Given the description of an element on the screen output the (x, y) to click on. 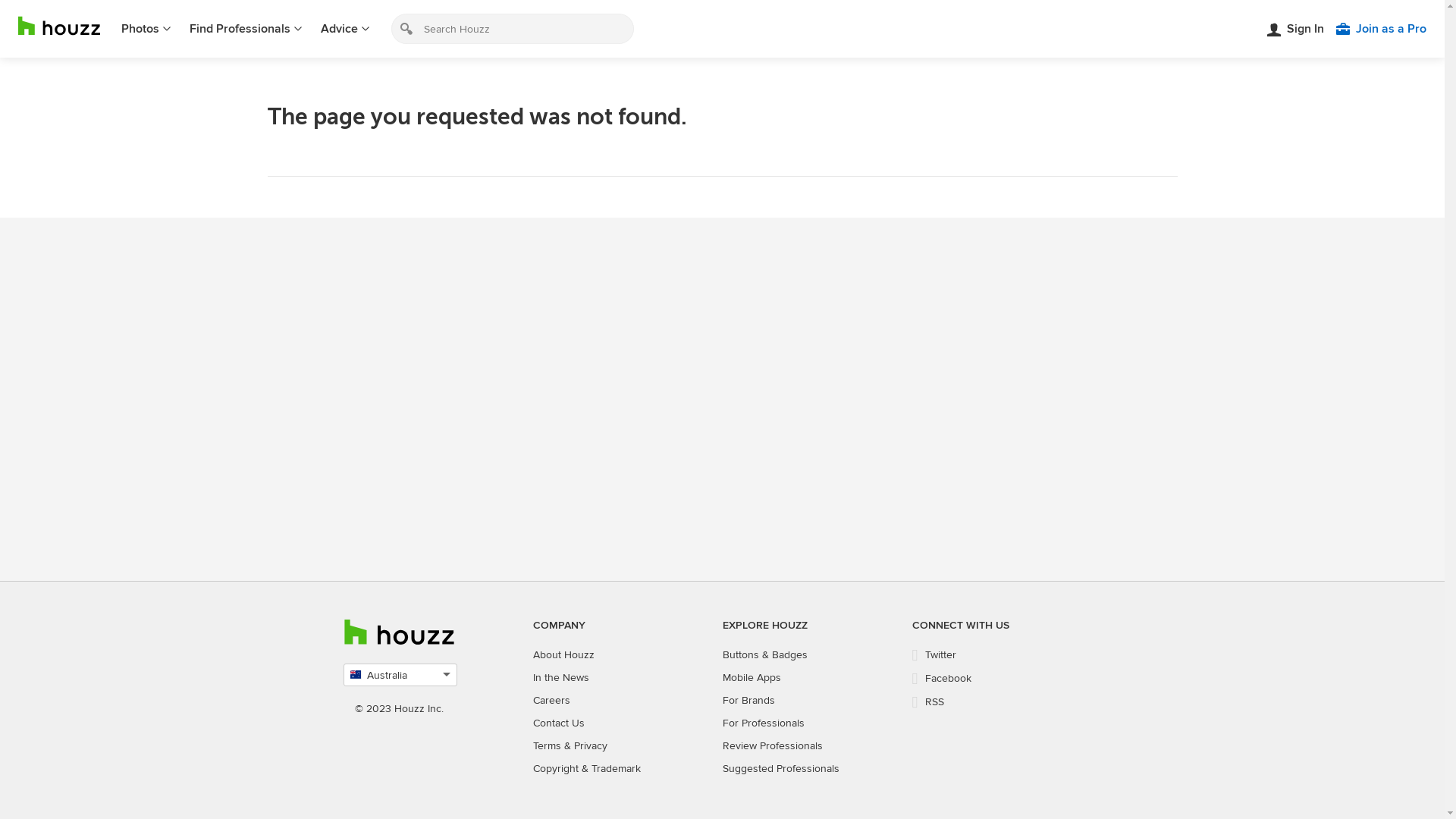
RSS Element type: text (927, 701)
Copyright & Trademark Element type: text (586, 768)
Terms Element type: text (546, 745)
Contact Us Element type: text (557, 722)
Buttons & Badges Element type: text (763, 654)
Review Professionals Element type: text (771, 745)
Suggested Professionals Element type: text (779, 768)
In the News Element type: text (560, 677)
Facebook Element type: text (941, 677)
Join as a Pro Element type: text (1381, 28)
Careers Element type: text (550, 699)
About Houzz Element type: text (562, 654)
Privacy Element type: text (589, 745)
Find Professionals Element type: text (245, 28)
Photos Element type: text (146, 28)
For Brands Element type: text (747, 699)
For Professionals Element type: text (762, 722)
Advice Element type: text (345, 28)
Mobile Apps Element type: text (750, 677)
Twitter Element type: text (933, 654)
Sign In Element type: text (1295, 28)
